Given the description of an element on the screen output the (x, y) to click on. 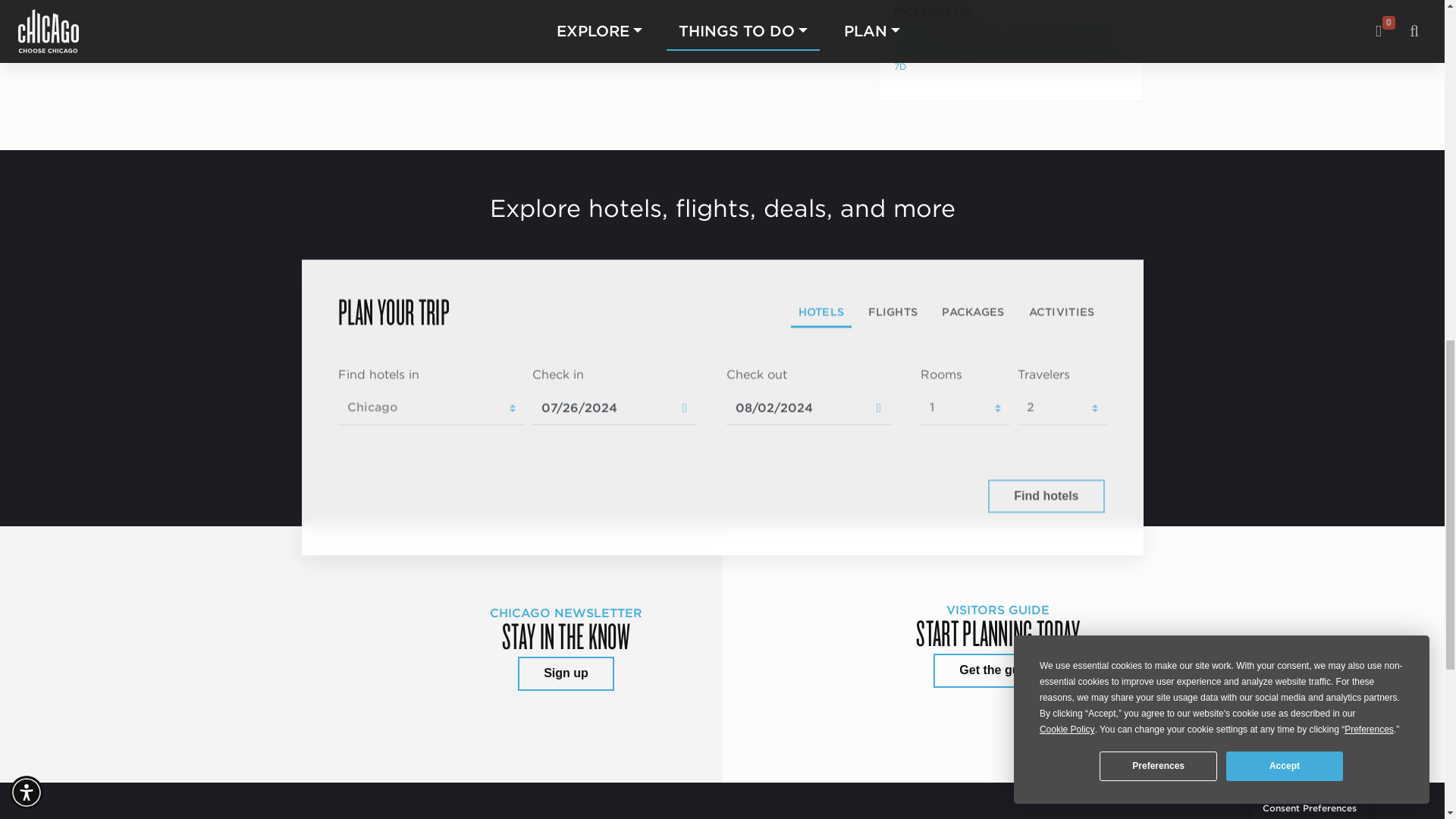
Powered by Expedia (917, 496)
